Given the description of an element on the screen output the (x, y) to click on. 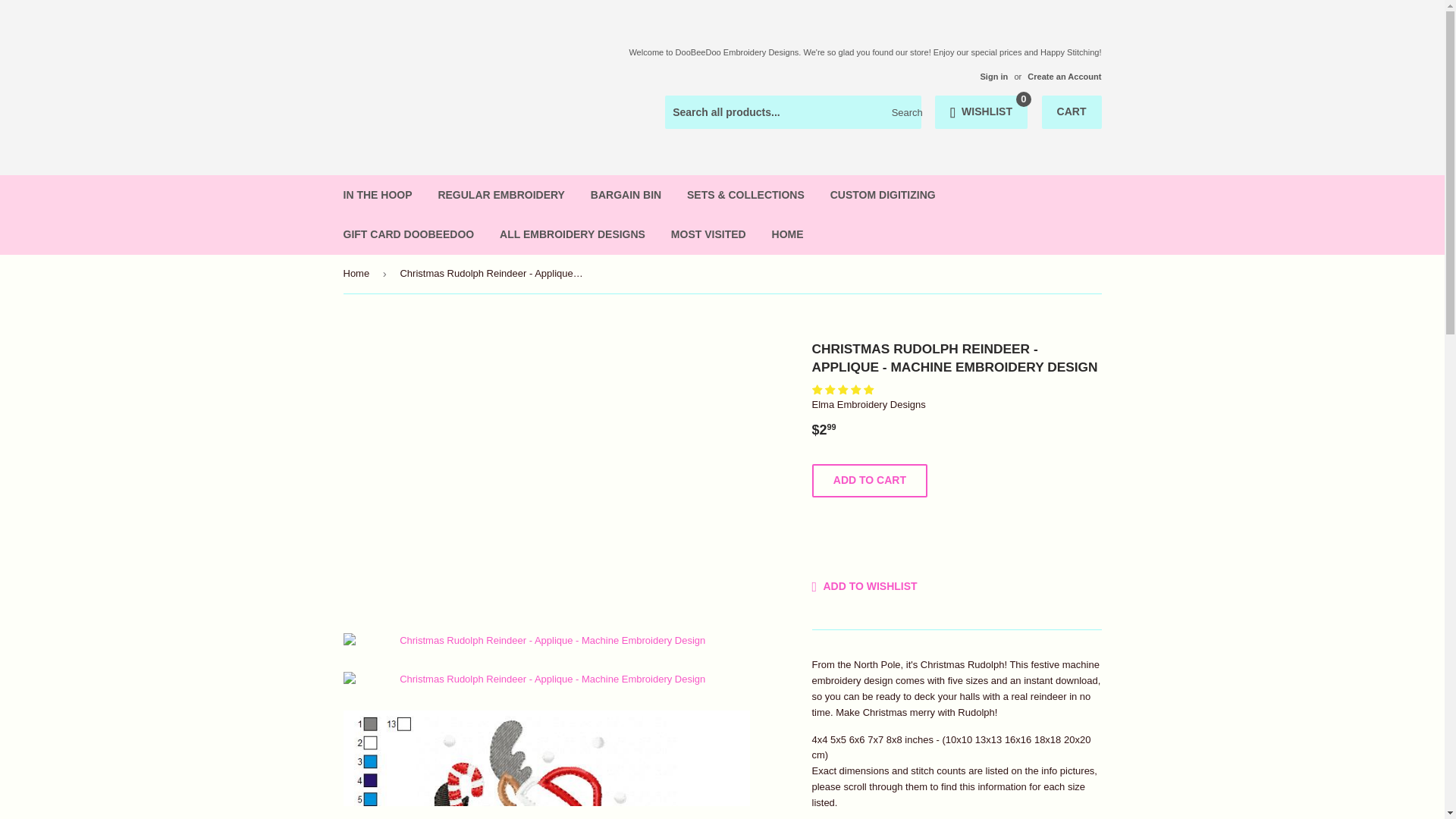
CART (1072, 111)
Sign in (993, 76)
Create an Account (1063, 76)
Search (903, 112)
